Given the description of an element on the screen output the (x, y) to click on. 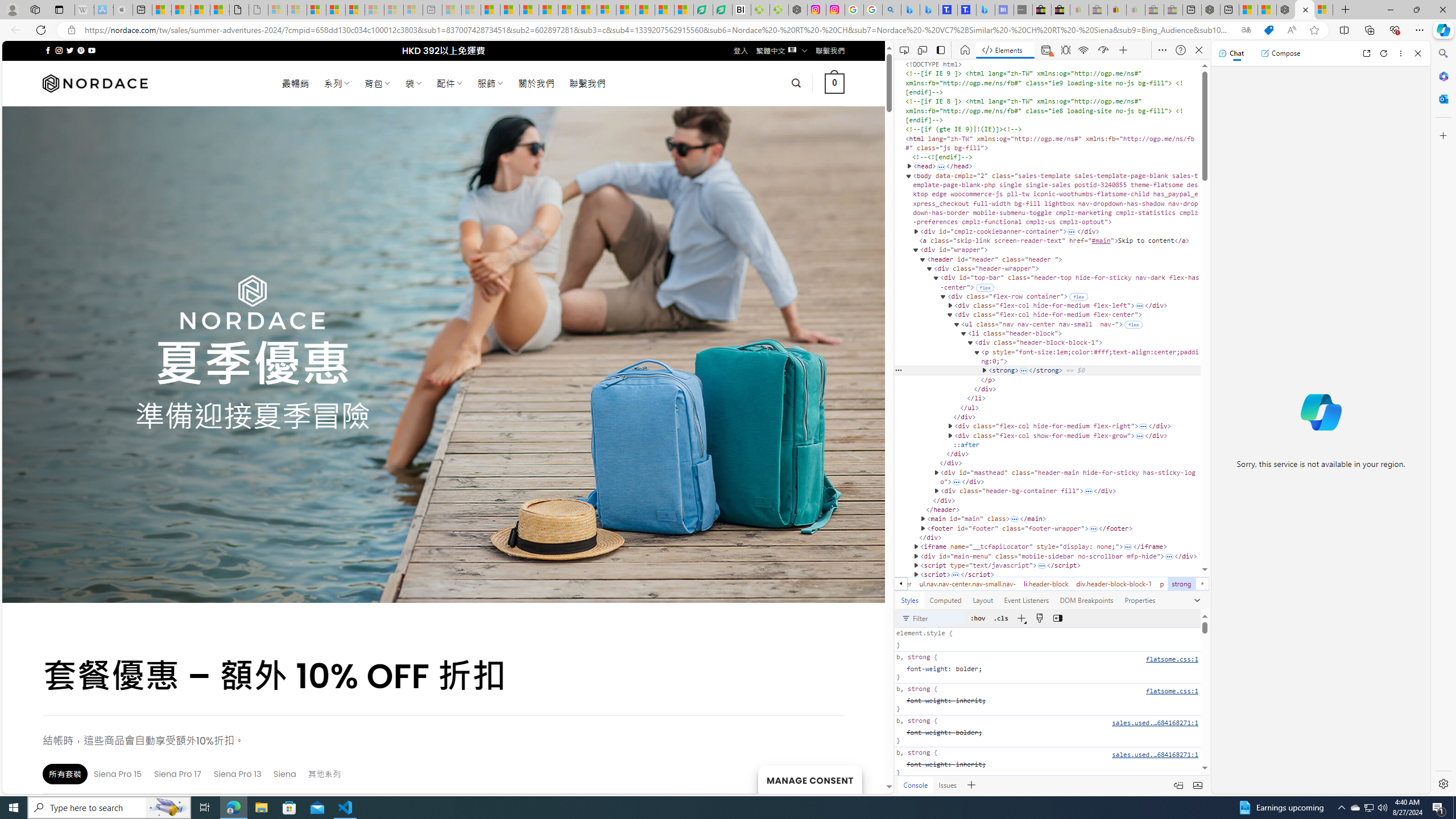
View site information (70, 29)
LendingTree - Compare Lenders (721, 9)
Follow on YouTube (92, 50)
Collections (1369, 29)
Siena (284, 773)
Issues (947, 784)
Layout (982, 599)
Expand Quick View (1197, 784)
Aberdeen, Hong Kong SAR weather forecast | Microsoft Weather (180, 9)
New tab - Sleeping (431, 9)
div.header-block-block-1 (1113, 583)
Top Stories - MSN - Sleeping (450, 9)
Side bar (1443, 418)
